Given the description of an element on the screen output the (x, y) to click on. 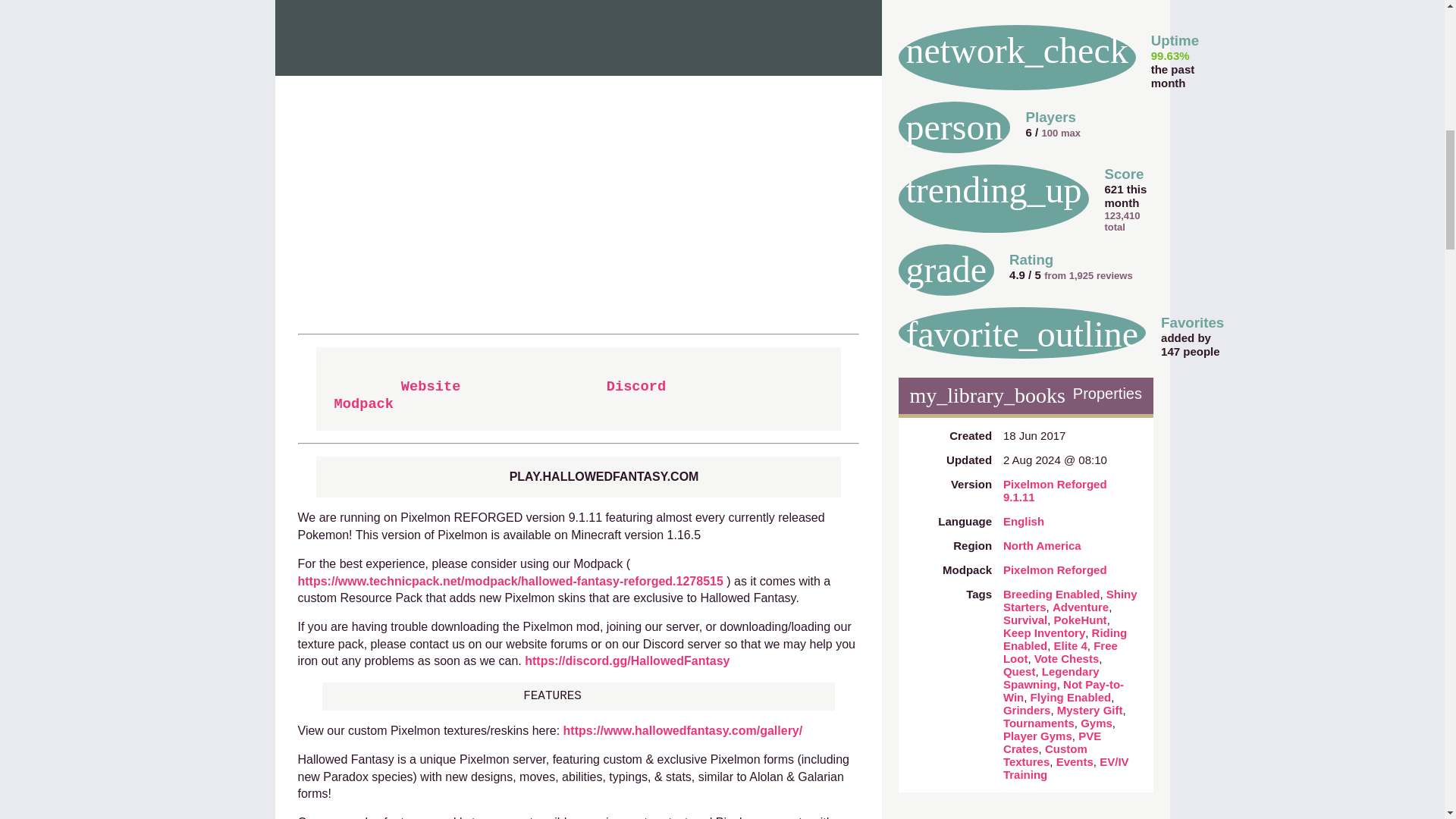
Free Loot (1060, 652)
Grinders (1027, 709)
Survival (1024, 619)
North America (1042, 545)
Modpack (363, 402)
Not Pay-to-Win (1063, 690)
Adventure (1080, 606)
Elite 4 (1070, 645)
Riding Enabled (1064, 638)
Discord (636, 385)
Pixelmon Reforged 9.1.11 (1054, 490)
Tournaments (1038, 722)
Quest (1019, 671)
Flying Enabled (1071, 697)
Breeding Enabled (1051, 594)
